Given the description of an element on the screen output the (x, y) to click on. 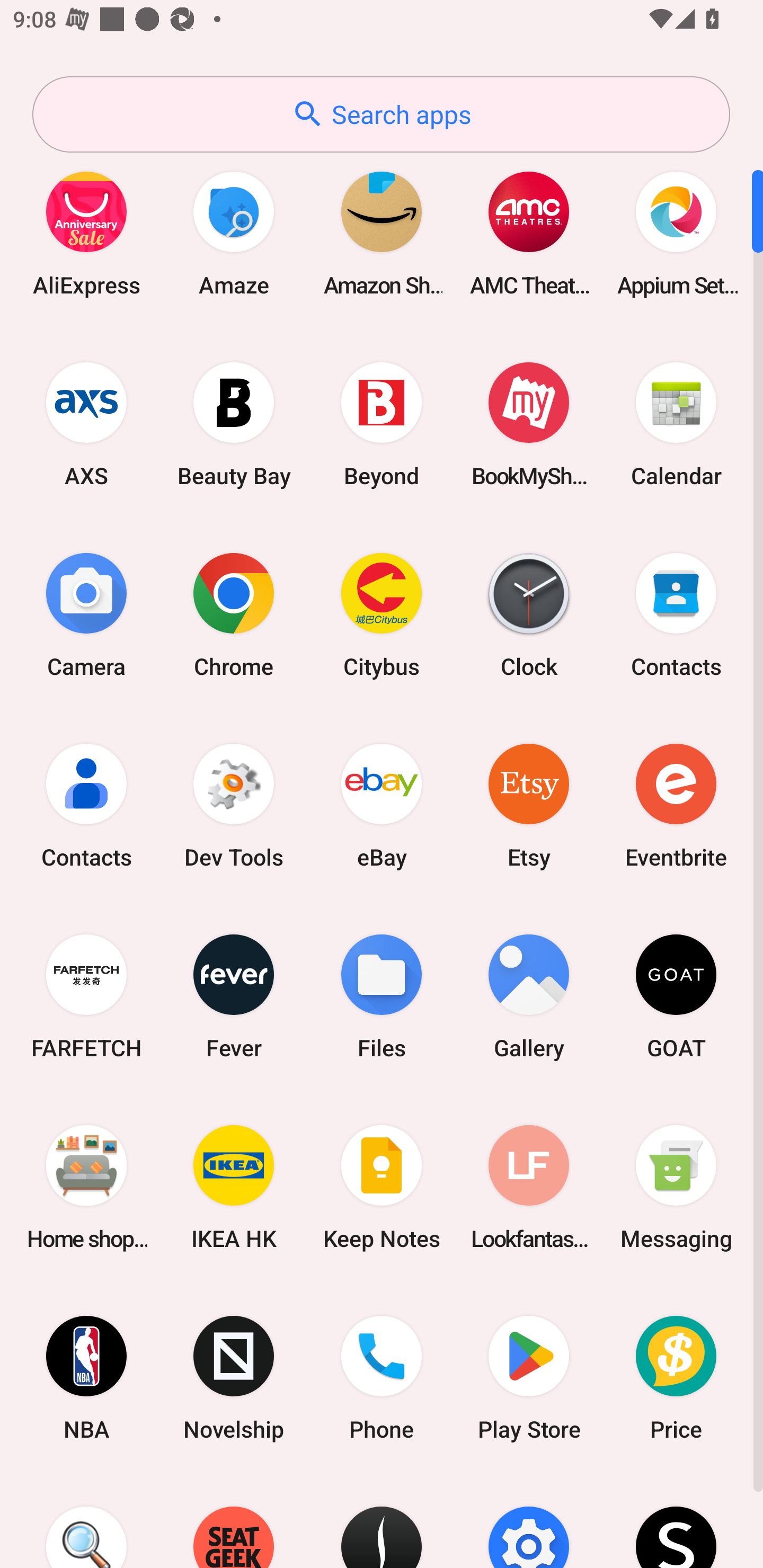
  Search apps (381, 114)
AliExpress (86, 233)
Amaze (233, 233)
Amazon Shopping (381, 233)
AMC Theatres (528, 233)
Appium Settings (676, 233)
AXS (86, 424)
Beauty Bay (233, 424)
Beyond (381, 424)
BookMyShow (528, 424)
Calendar (676, 424)
Camera (86, 614)
Chrome (233, 614)
Citybus (381, 614)
Clock (528, 614)
Contacts (676, 614)
Contacts (86, 805)
Dev Tools (233, 805)
eBay (381, 805)
Etsy (528, 805)
Eventbrite (676, 805)
FARFETCH (86, 996)
Fever (233, 996)
Files (381, 996)
Gallery (528, 996)
GOAT (676, 996)
Home shopping (86, 1186)
IKEA HK (233, 1186)
Keep Notes (381, 1186)
Lookfantastic (528, 1186)
Messaging (676, 1186)
NBA (86, 1377)
Novelship (233, 1377)
Phone (381, 1377)
Play Store (528, 1377)
Price (676, 1377)
